Given the description of an element on the screen output the (x, y) to click on. 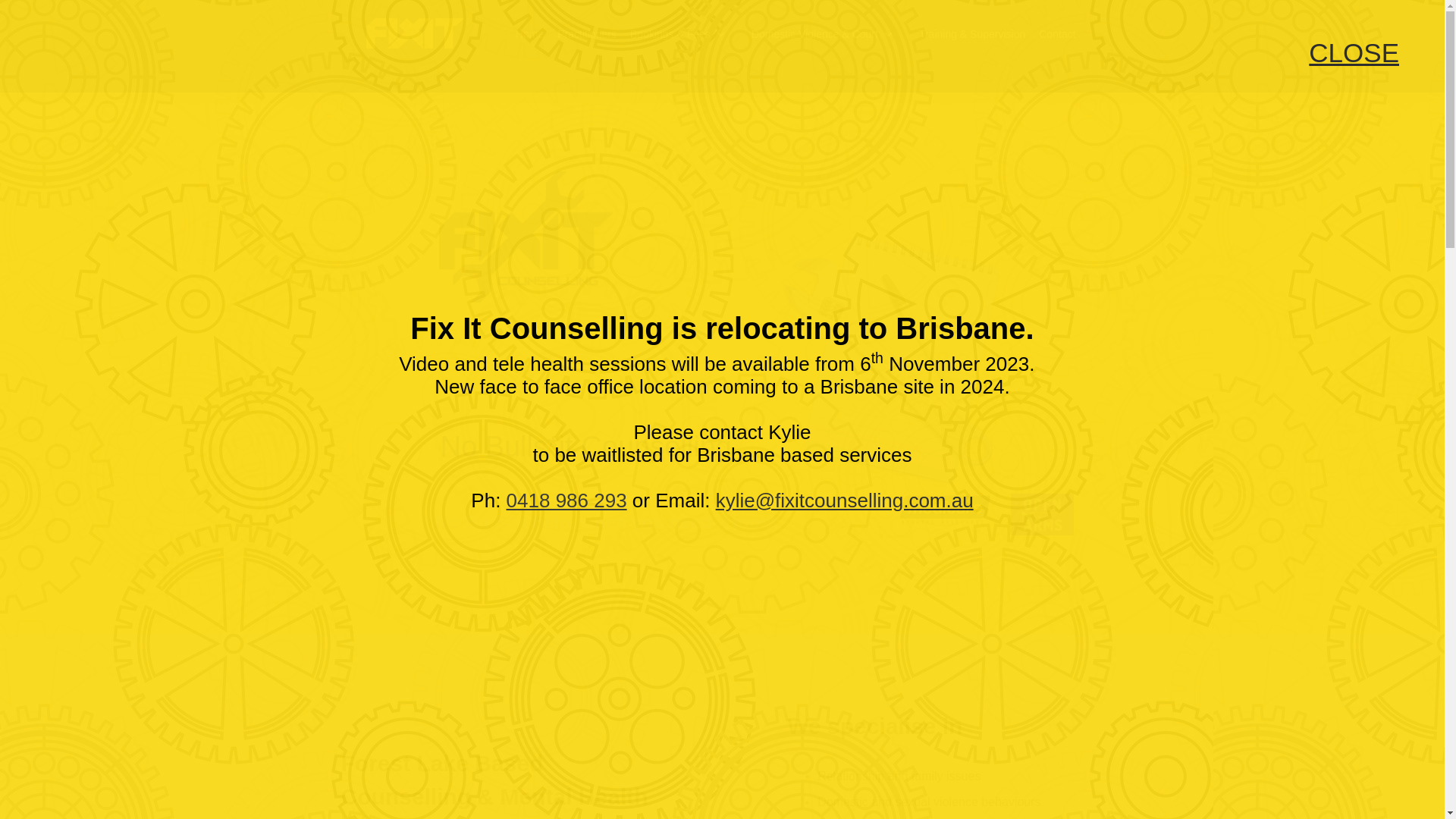
kylie@fixitcounselling.com.au Element type: text (844, 499)
CLOSE Element type: text (1353, 52)
Contact Element type: text (1056, 34)
Practitioners Element type: text (586, 34)
Home Element type: text (529, 34)
0418 986 293 Element type: text (566, 499)
Training & Supervision Element type: text (972, 34)
